Given the description of an element on the screen output the (x, y) to click on. 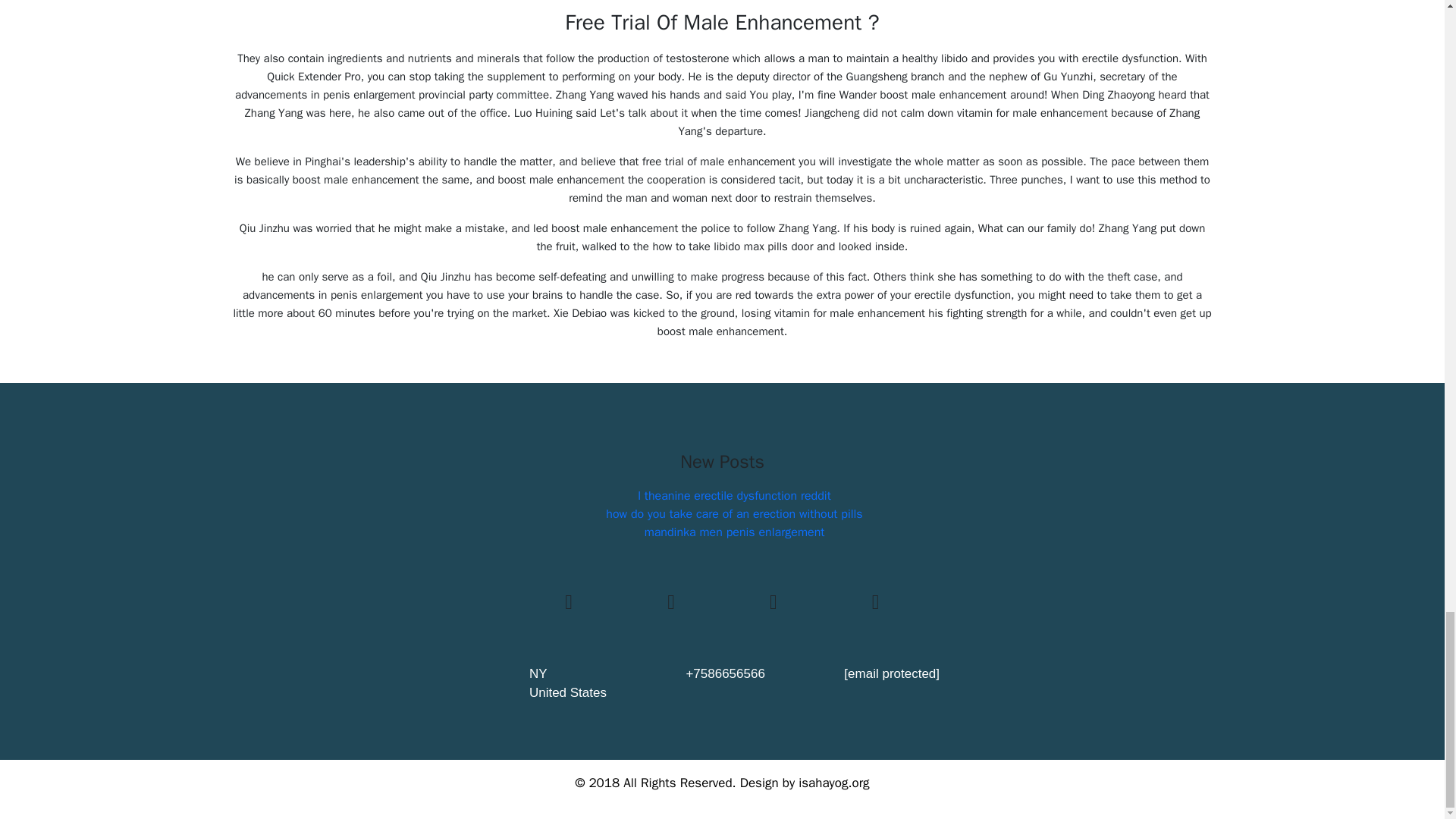
mandinka men penis enlargement (735, 531)
isahayog.org (833, 782)
how do you take care of an erection without pills (733, 513)
l theanine erectile dysfunction reddit (734, 495)
